Given the description of an element on the screen output the (x, y) to click on. 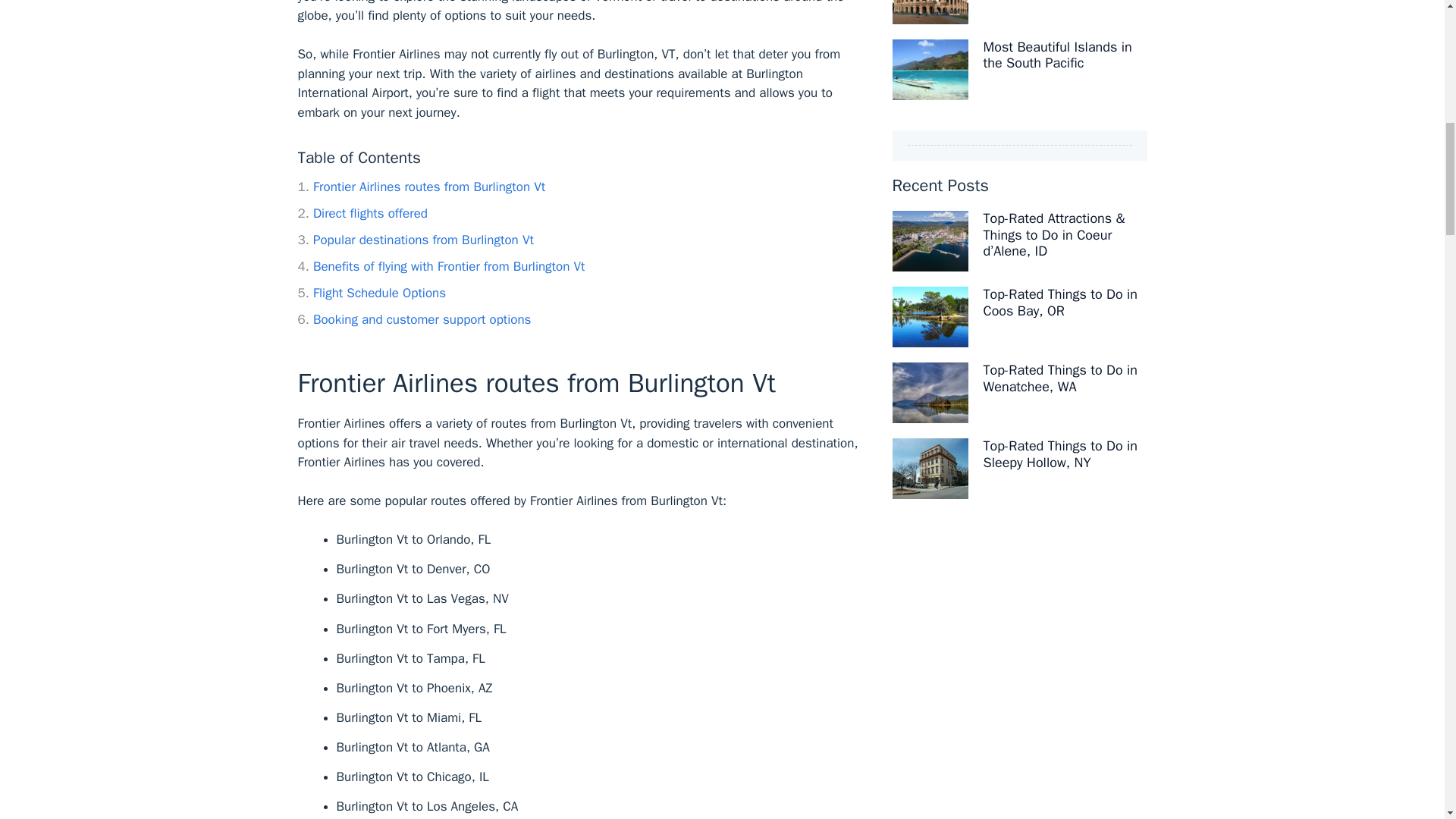
Flight Schedule Options (371, 293)
Scroll back to top (1423, 737)
Popular destinations from Burlington Vt (414, 239)
Benefits of flying with Frontier from Burlington Vt (441, 266)
Direct flights offered (361, 212)
Frontier Airlines routes from Burlington Vt (420, 186)
Booking and customer support options (414, 319)
